Given the description of an element on the screen output the (x, y) to click on. 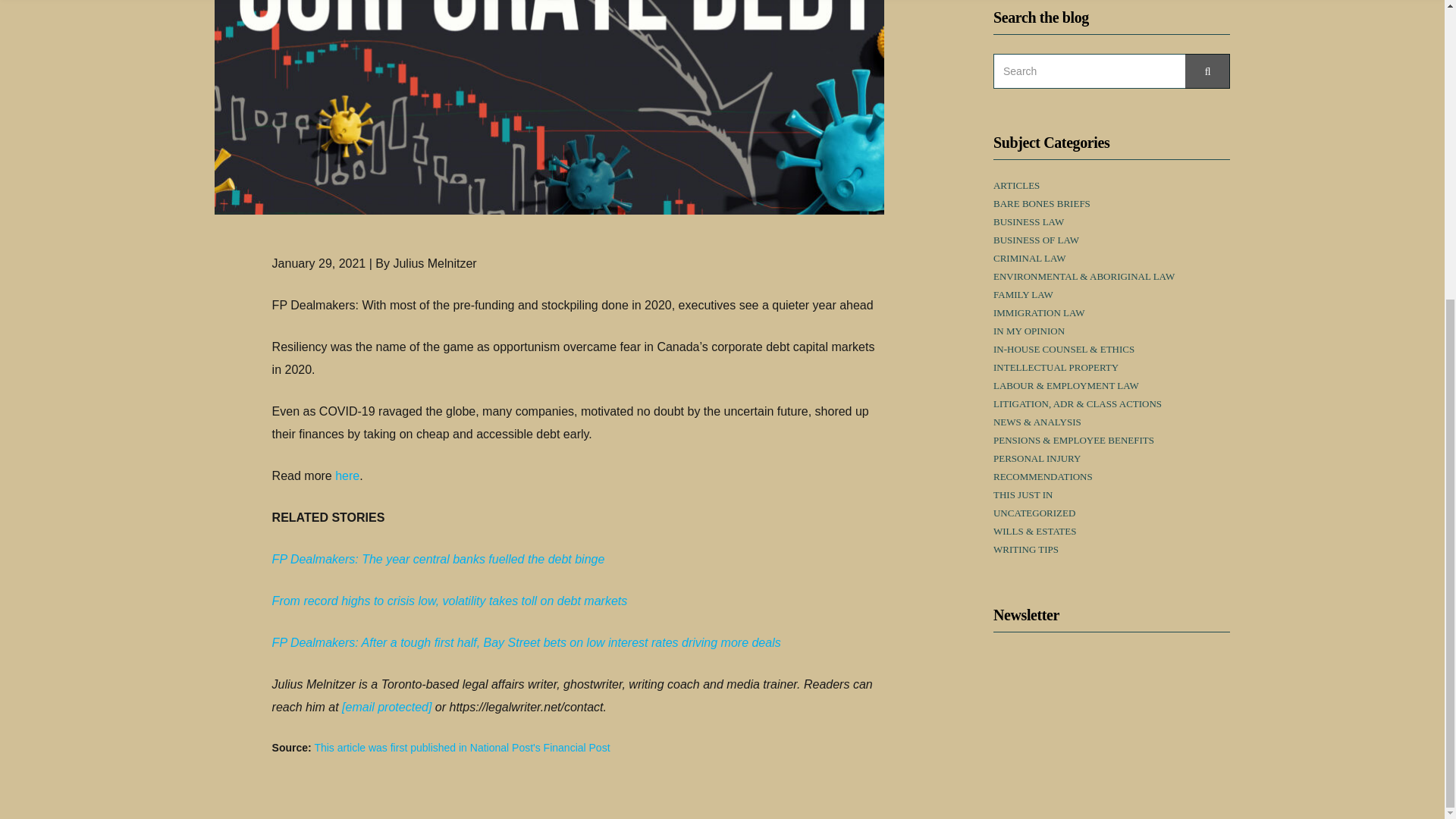
UNCATEGORIZED (1033, 512)
BARE BONES BRIEFS (1041, 203)
FAMILY LAW (1022, 295)
FP Dealmakers: The year central banks fuelled the debt binge (438, 558)
PERSONAL INJURY (1036, 458)
RECOMMENDATIONS (1042, 476)
IN MY OPINION (1028, 331)
BUSINESS LAW (1028, 222)
IMMIGRATION LAW (1038, 313)
Search (1207, 71)
here (346, 475)
BUSINESS OF LAW (1035, 240)
